Given the description of an element on the screen output the (x, y) to click on. 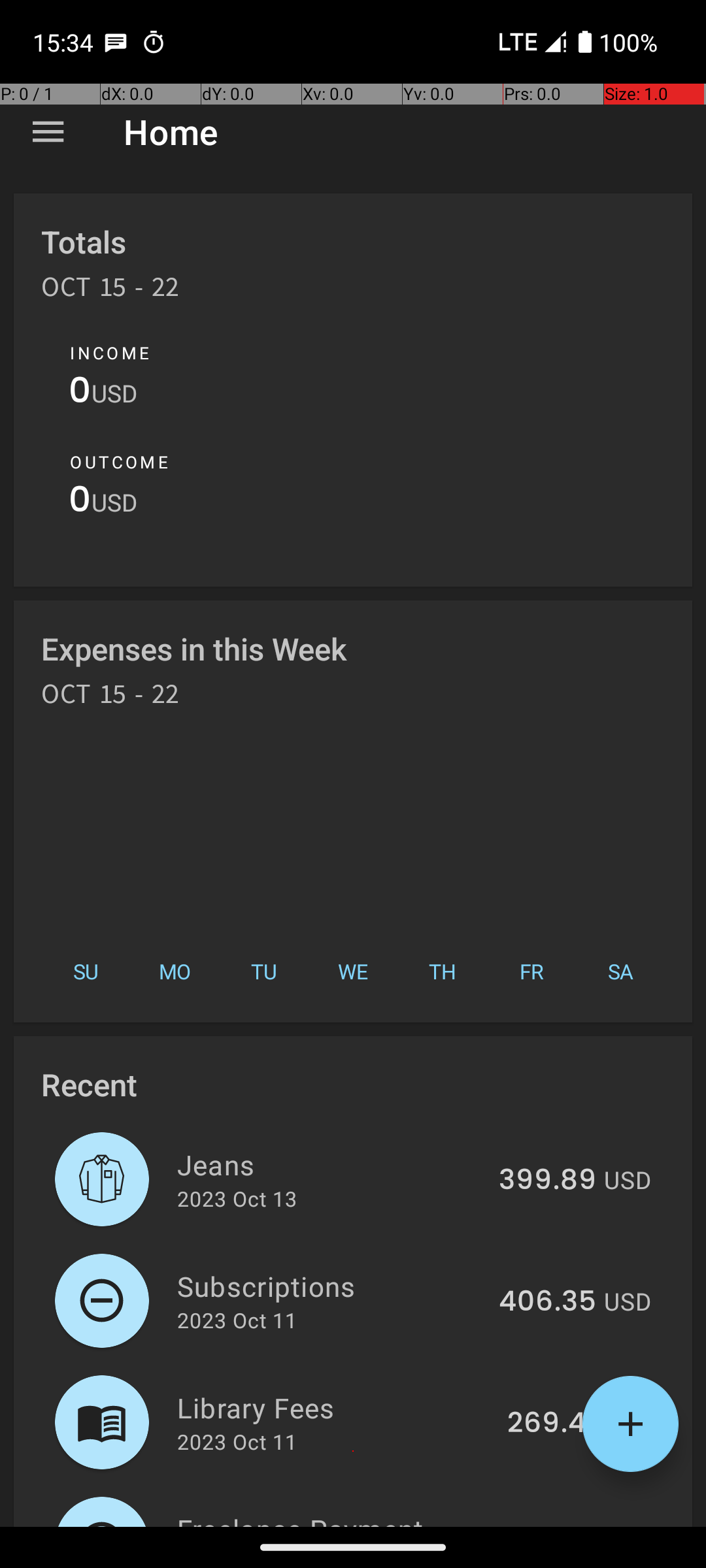
Jeans Element type: android.widget.TextView (330, 1164)
399.89 Element type: android.widget.TextView (547, 1180)
406.35 Element type: android.widget.TextView (547, 1301)
Library Fees Element type: android.widget.TextView (334, 1407)
269.41 Element type: android.widget.TextView (551, 1423)
491.33 Element type: android.widget.TextView (551, 1524)
SMS Messenger notification: +15785288010 Element type: android.widget.ImageView (115, 41)
